Given the description of an element on the screen output the (x, y) to click on. 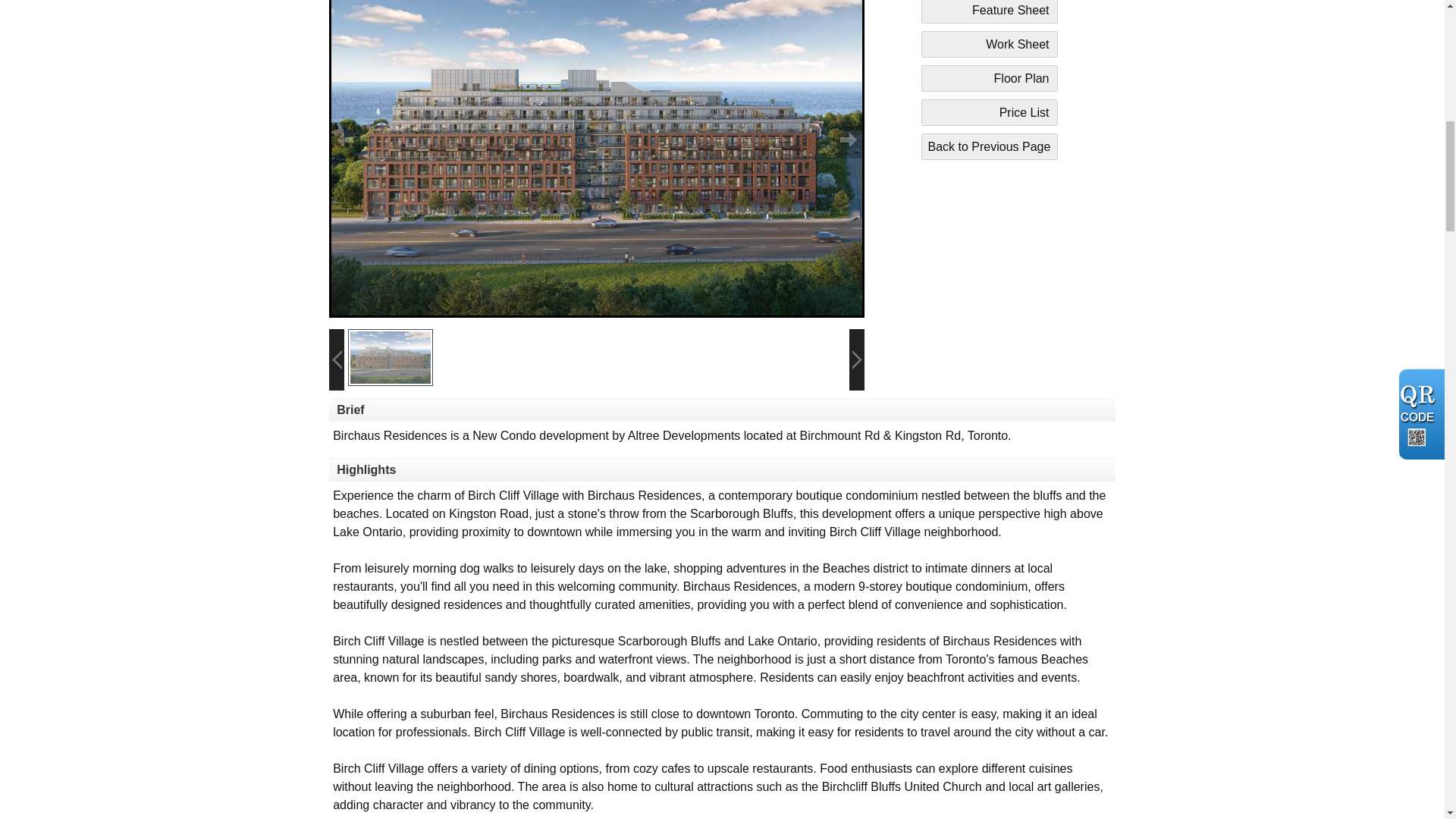
Floor Plan (989, 78)
Back to Previous Page (989, 146)
Work Sheet (989, 44)
Next Image (835, 157)
Slide Left (336, 359)
Price List (989, 112)
Feature Sheet (989, 11)
Slide Right (856, 359)
Previous Image (357, 157)
